Given the description of an element on the screen output the (x, y) to click on. 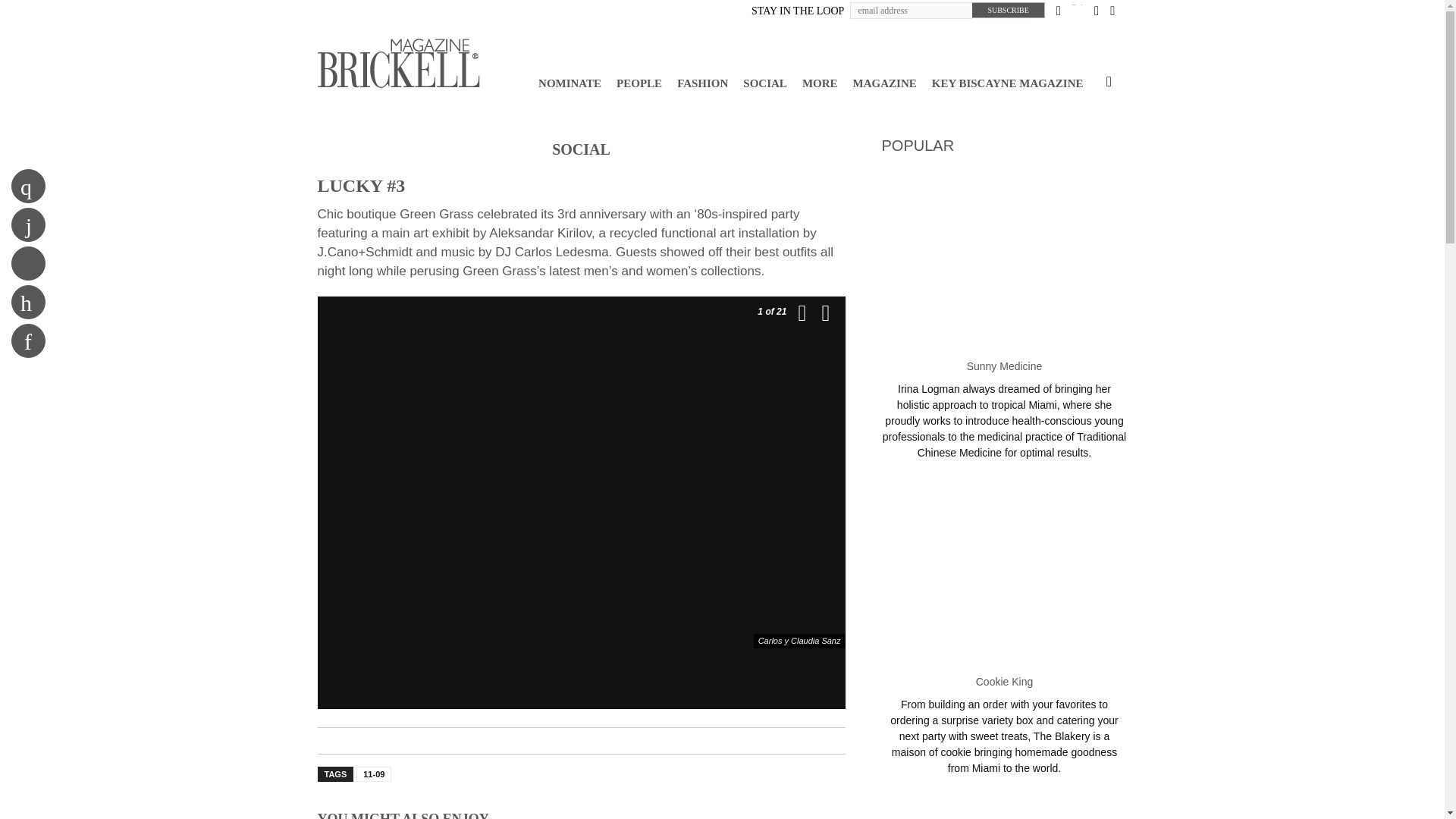
PEOPLE (638, 83)
FASHION (702, 83)
NOMINATE (569, 83)
SUBSCRIBE (1007, 10)
Brickell Magazine (398, 62)
MORE (819, 83)
SUBSCRIBE (1007, 10)
SOCIAL (764, 83)
